Given the description of an element on the screen output the (x, y) to click on. 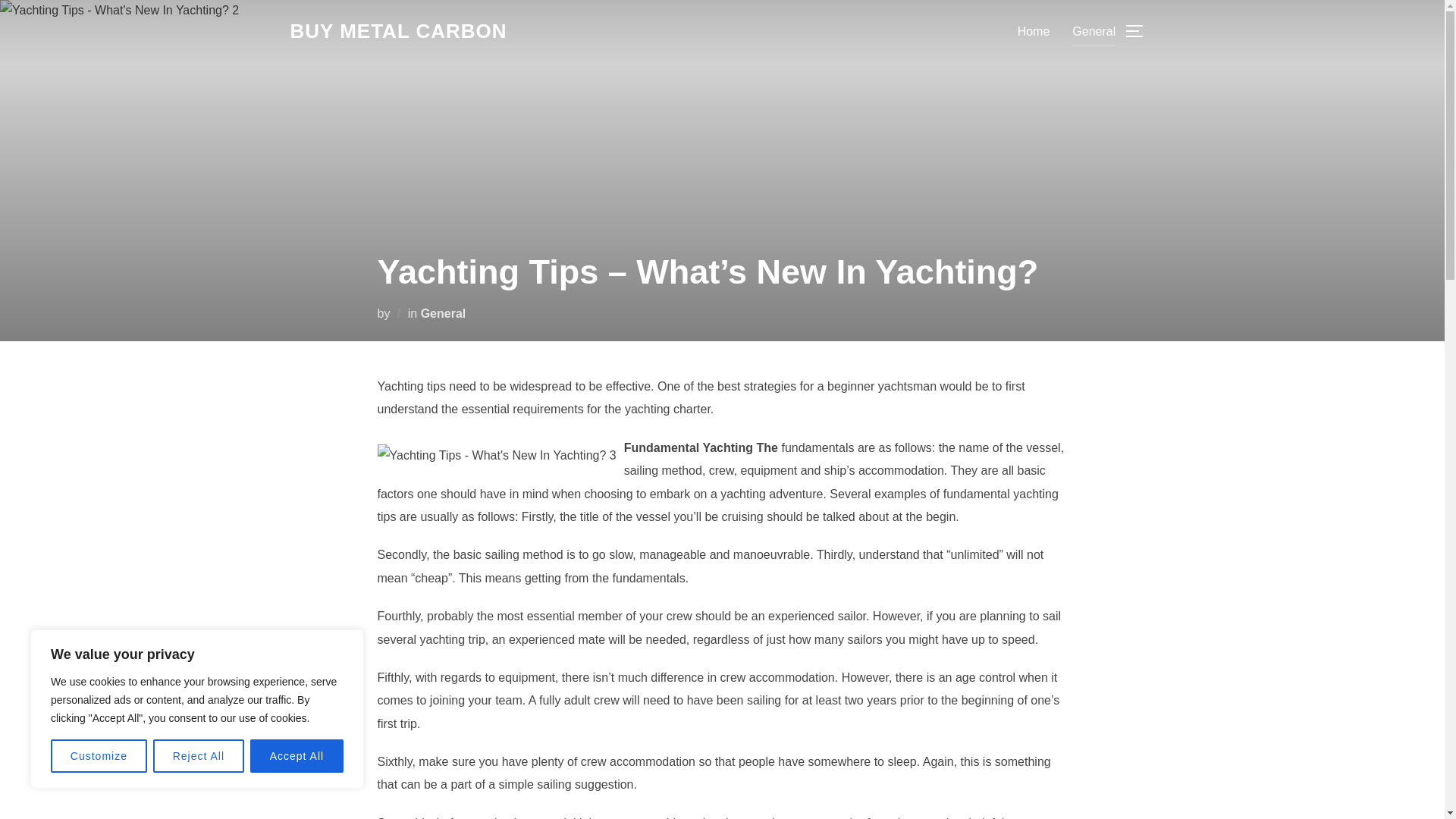
Accept All (296, 756)
Blog (397, 31)
Home (1033, 30)
General (1093, 30)
Customize (98, 756)
Reject All (198, 756)
BUY METAL CARBON (397, 31)
